Given the description of an element on the screen output the (x, y) to click on. 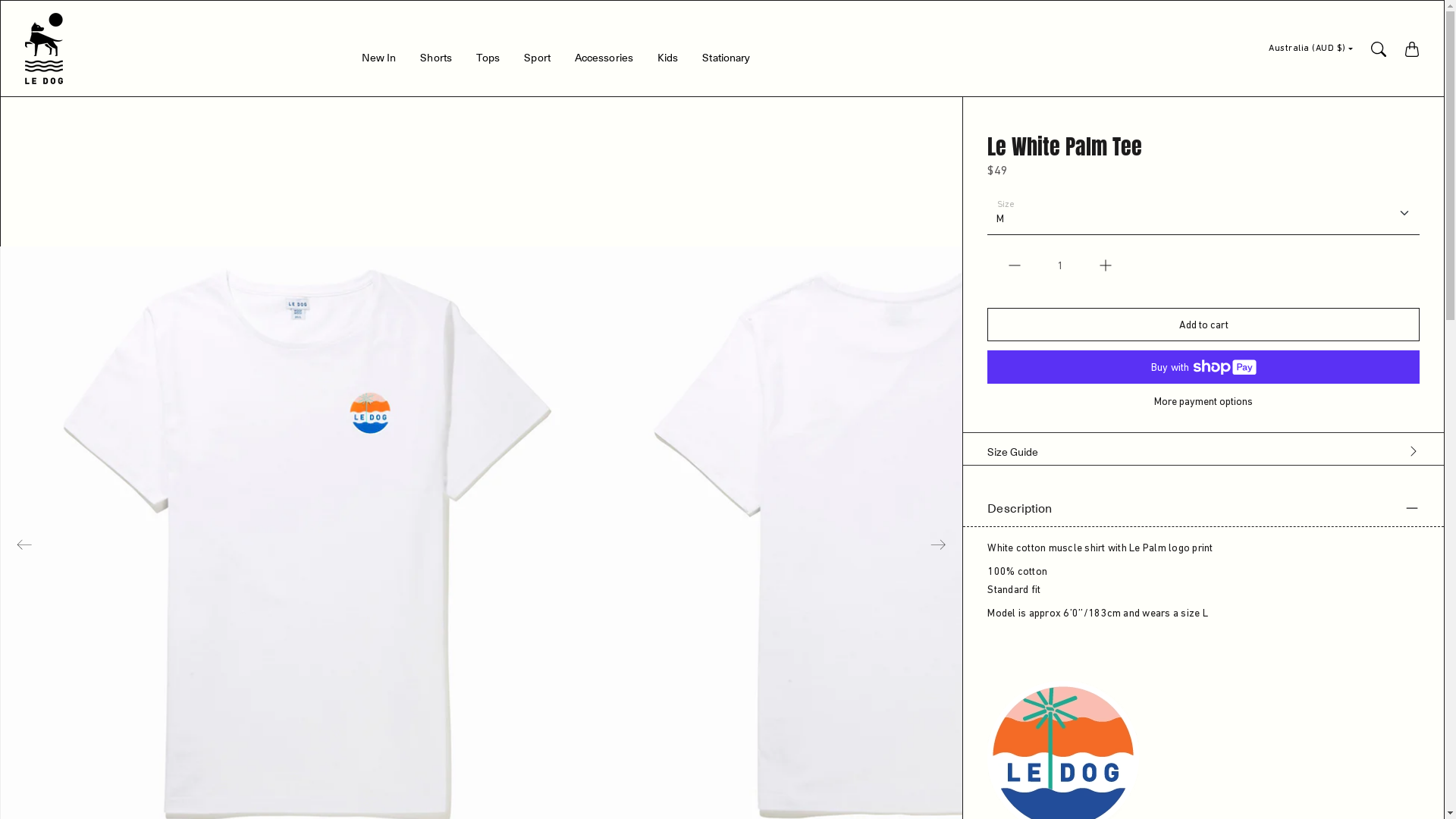
New In Element type: text (378, 60)
Size Guide Element type: text (1203, 448)
Sport Element type: text (537, 60)
Kids Element type: text (667, 60)
Australia (AUD $) Element type: text (1310, 48)
Stationary Element type: text (725, 60)
Description Element type: text (1203, 507)
Skip to content Element type: text (0, 0)
More payment options Element type: text (1203, 400)
Add to cart Element type: text (1203, 324)
Accessories Element type: text (603, 60)
